Given the description of an element on the screen output the (x, y) to click on. 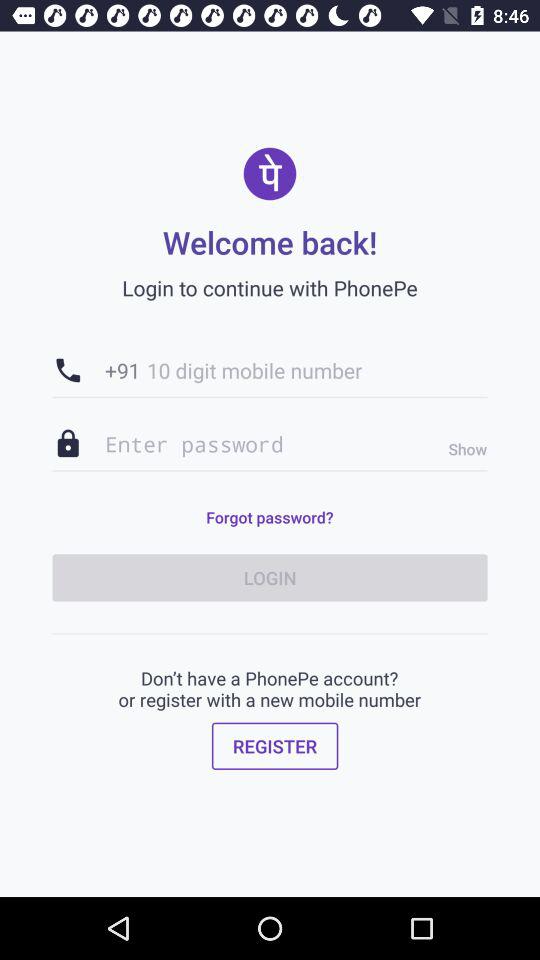
choose item above forgot password? icon (269, 443)
